Given the description of an element on the screen output the (x, y) to click on. 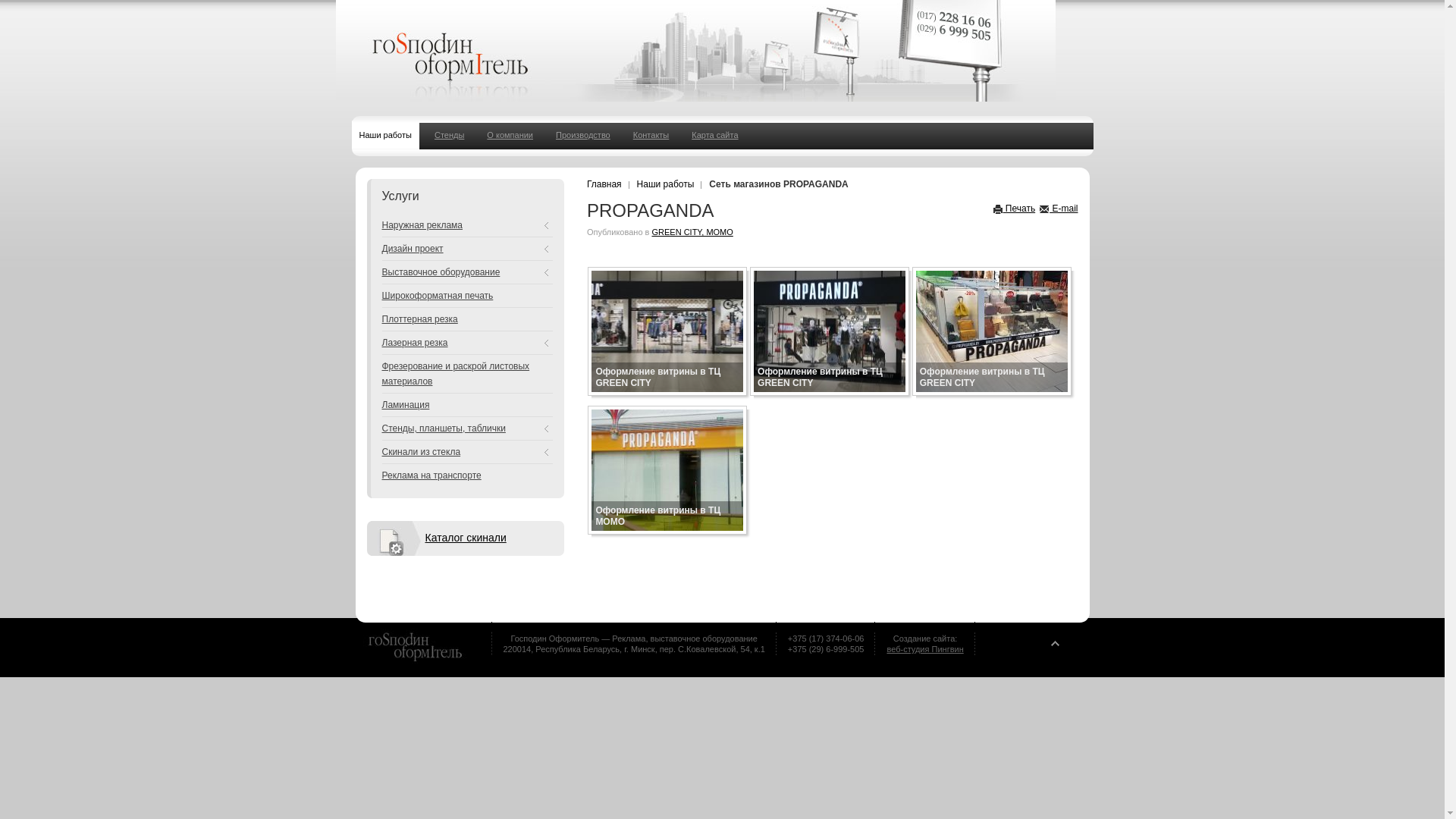
E-mail Element type: text (1057, 208)
GREEN CITY, MOMO Element type: text (691, 231)
Click to enlarge image viber image 2019-05-04  12.07.26.jpg Element type: hover (667, 469)
Click to enlarge image 1.jpg Element type: hover (991, 331)
